Given the description of an element on the screen output the (x, y) to click on. 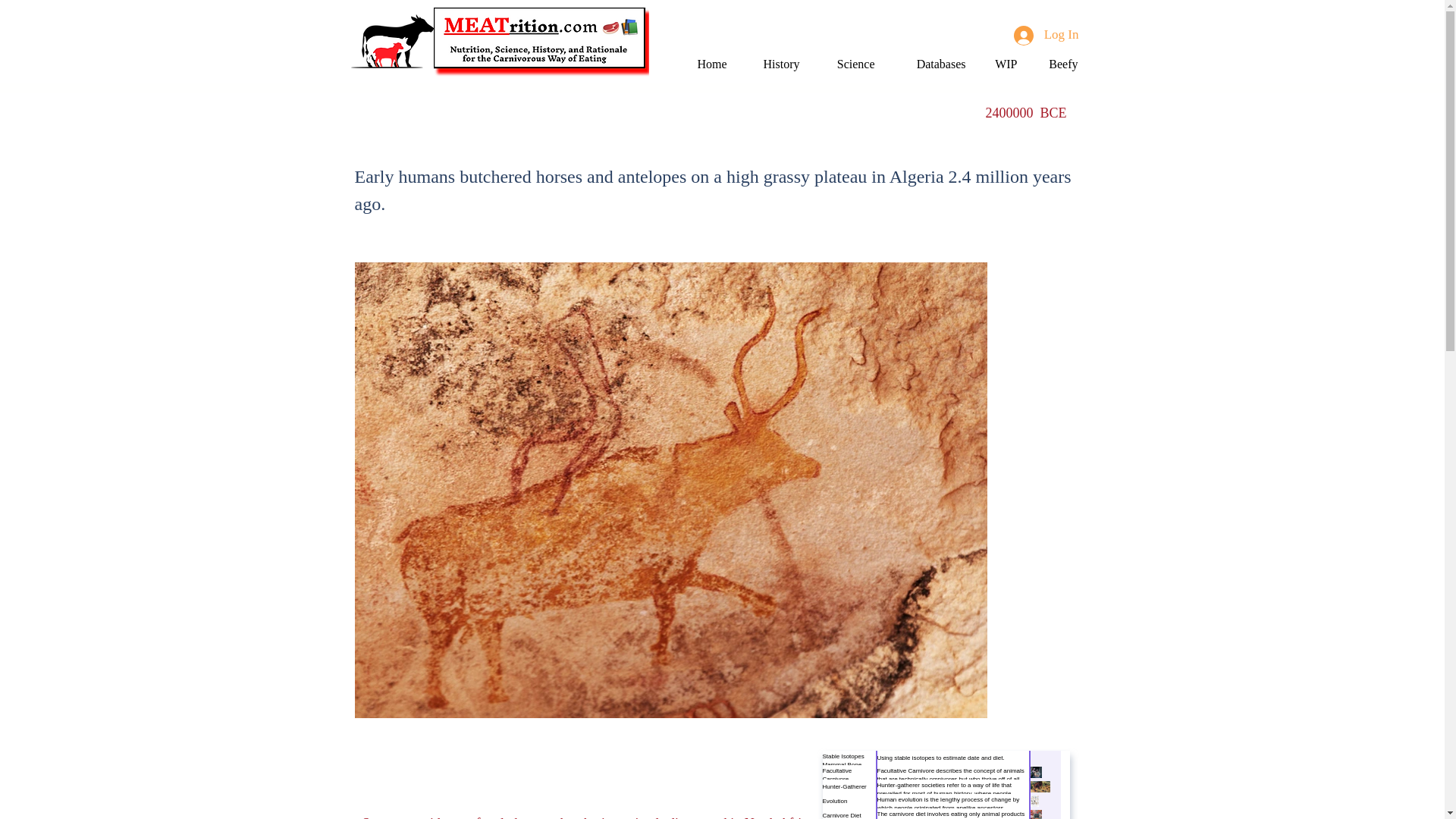
Home (706, 63)
Log In (1046, 35)
Meatrition.com.png (541, 41)
